Given the description of an element on the screen output the (x, y) to click on. 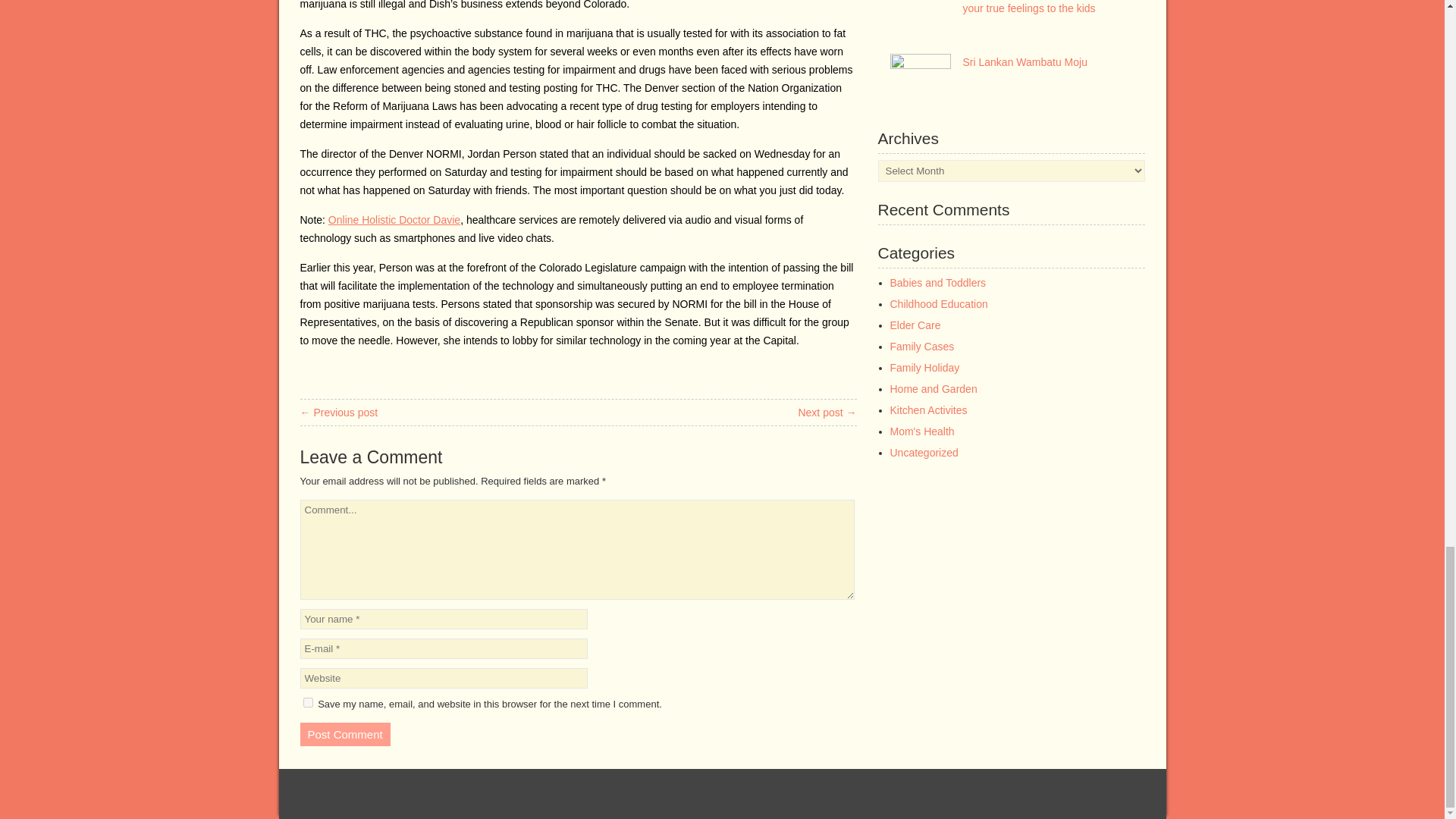
Online Holistic Doctor Davie (394, 219)
Post Comment (344, 734)
Post Comment (344, 734)
yes (307, 702)
Is going on a fishing trip fun (338, 412)
